Given the description of an element on the screen output the (x, y) to click on. 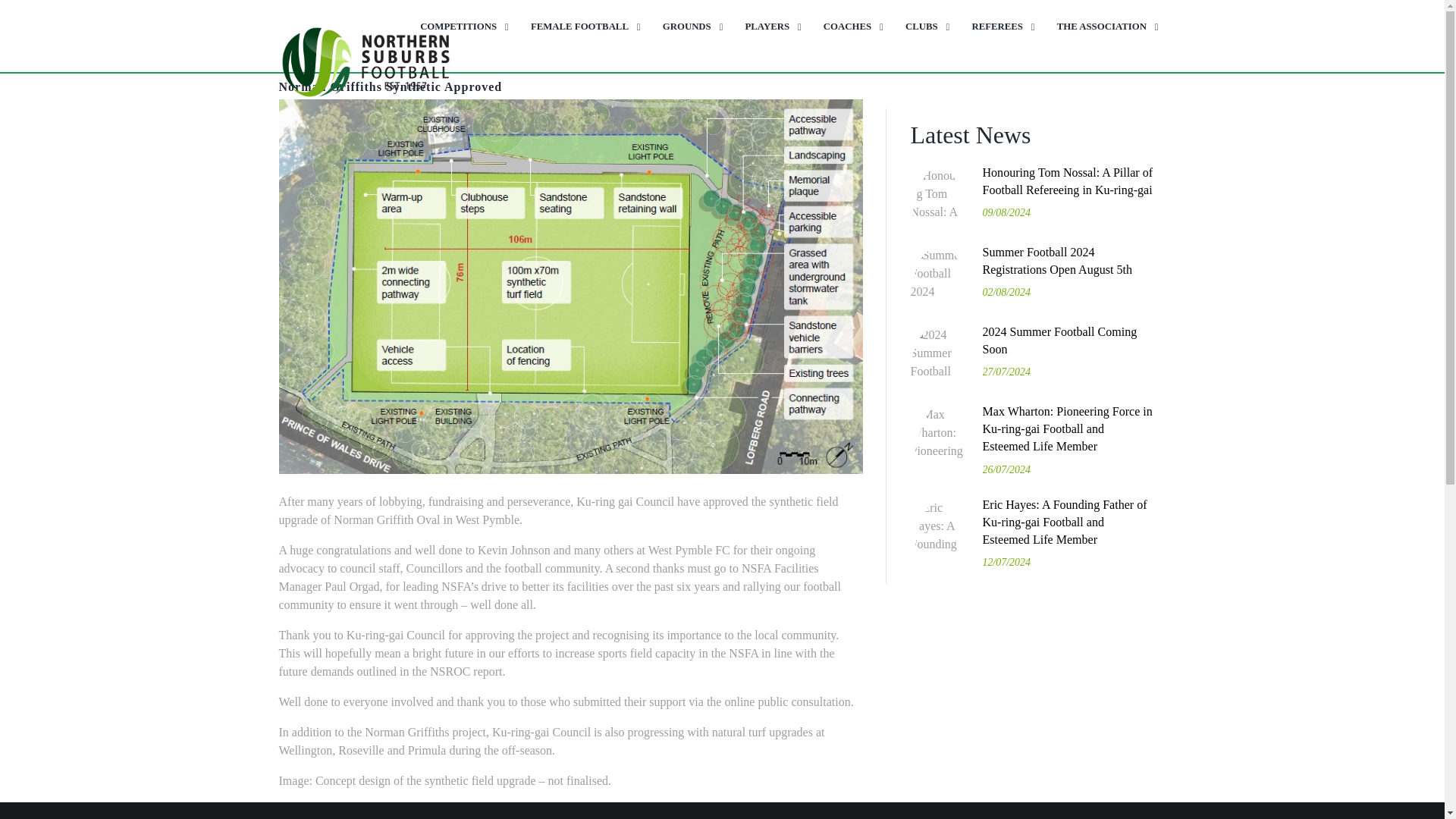
COMPETITIONS (461, 26)
FEMALE FOOTBALL (581, 26)
PLAYERS (769, 26)
GROUNDS (688, 26)
